Given the description of an element on the screen output the (x, y) to click on. 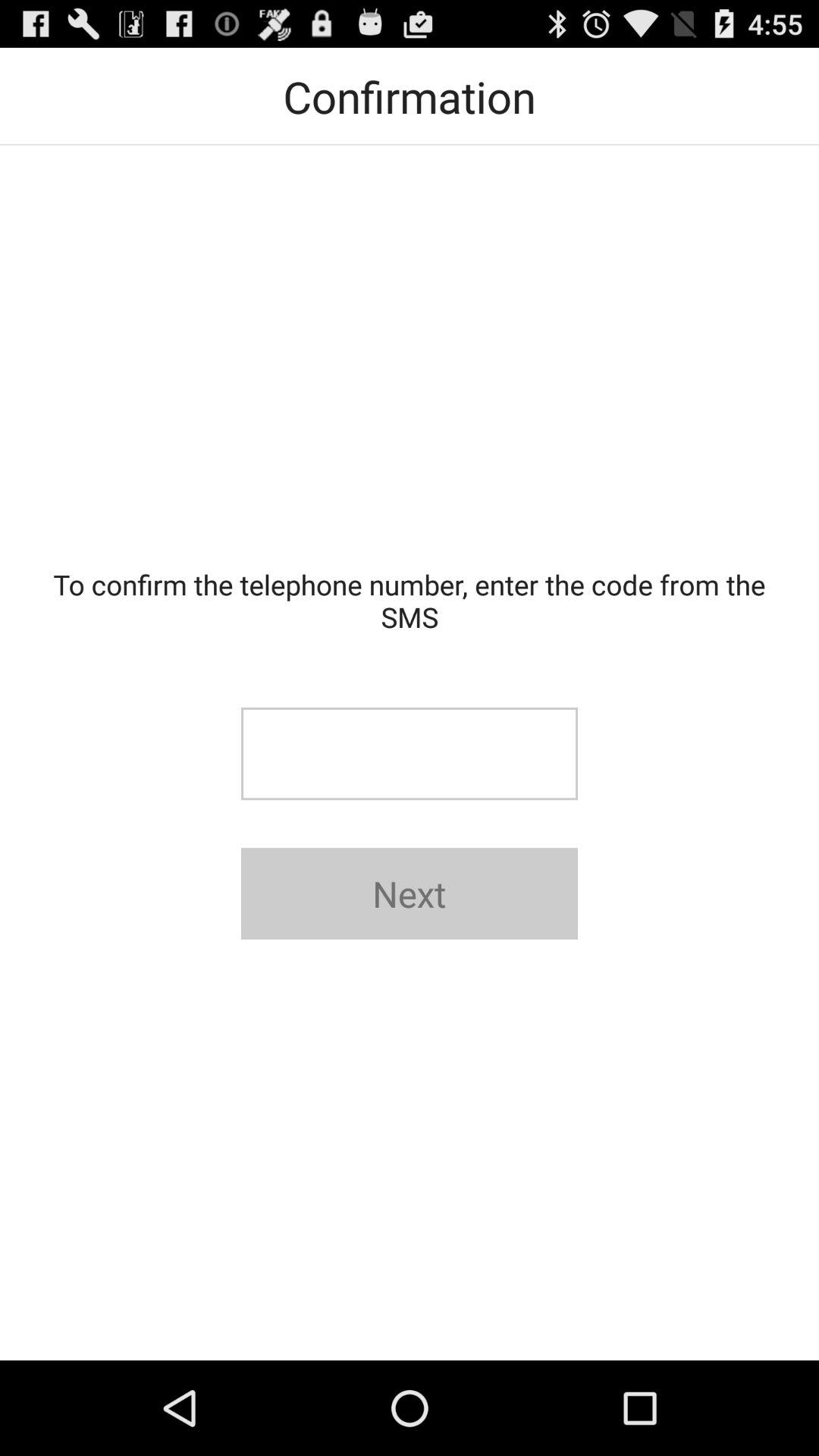
text on sms (409, 753)
